Given the description of an element on the screen output the (x, y) to click on. 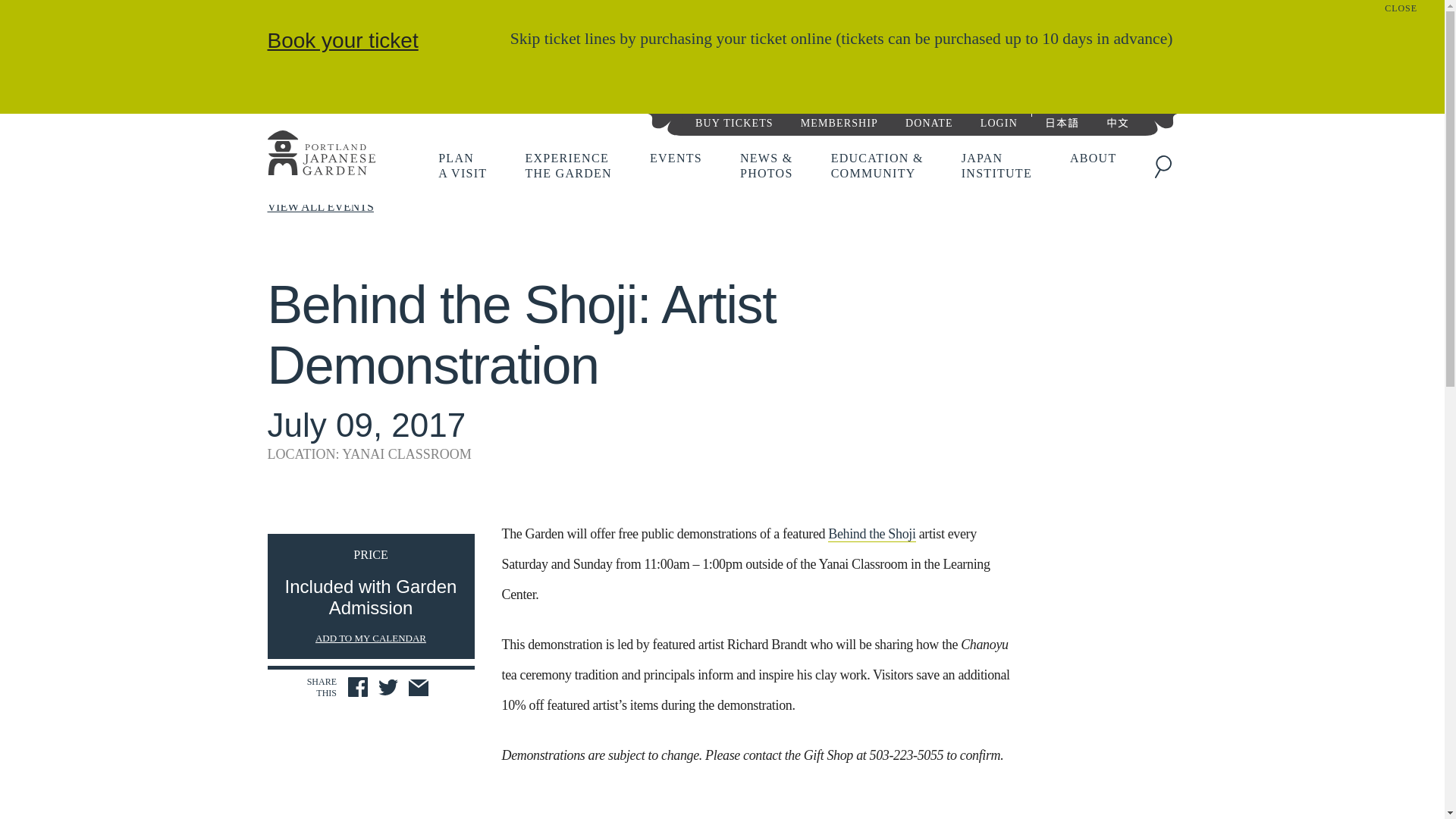
Click to email a link to a friend (418, 689)
Click to share on Twitter (387, 689)
BUY TICKETS (734, 120)
Book your ticket (341, 40)
Click to share on Facebook (357, 686)
Portland Japanese Garden (320, 155)
LOGIN (998, 120)
DONATE (928, 120)
MEMBERSHIP (462, 165)
